Given the description of an element on the screen output the (x, y) to click on. 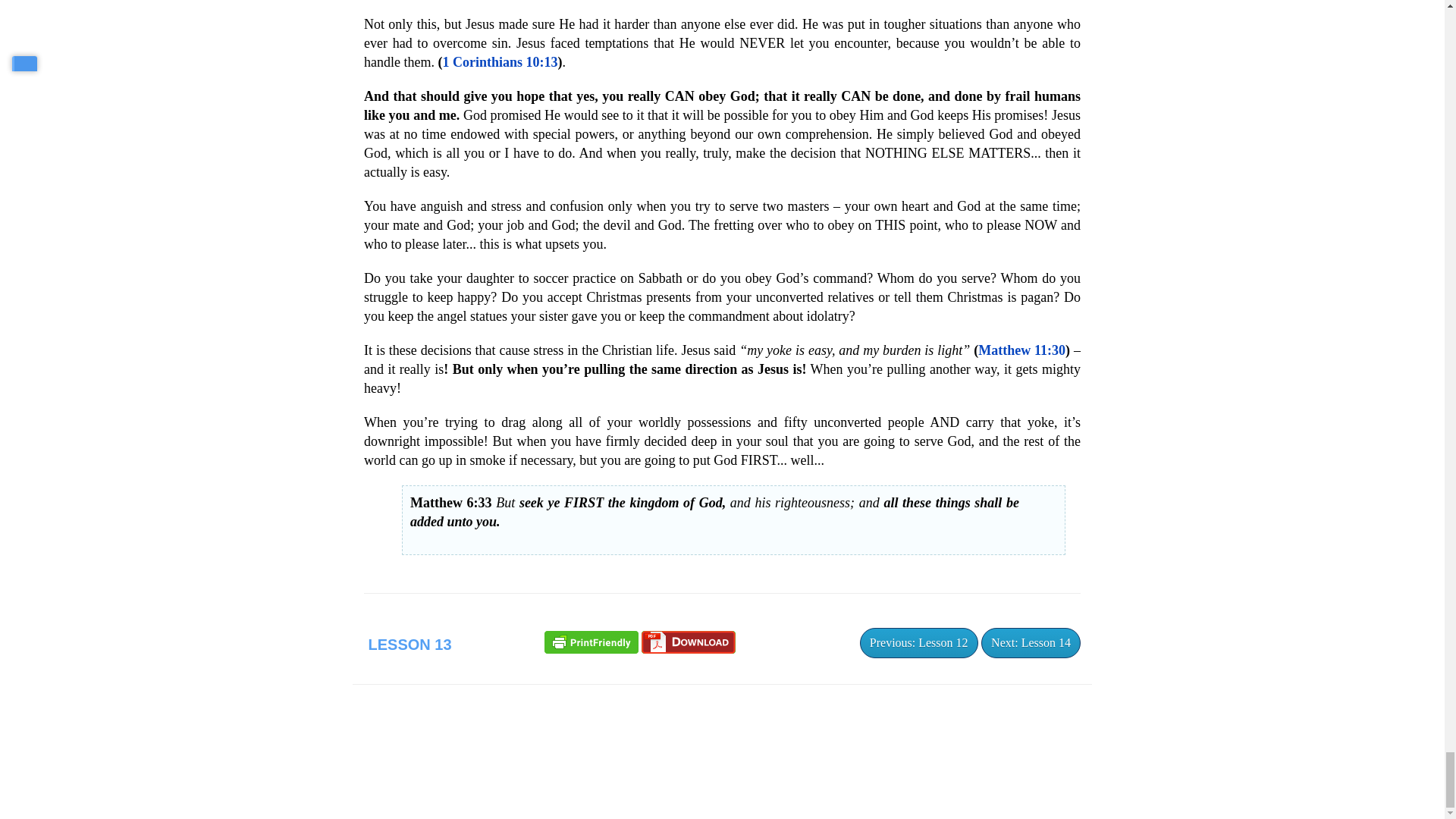
Printer Friendly and PDF (591, 640)
